Given the description of an element on the screen output the (x, y) to click on. 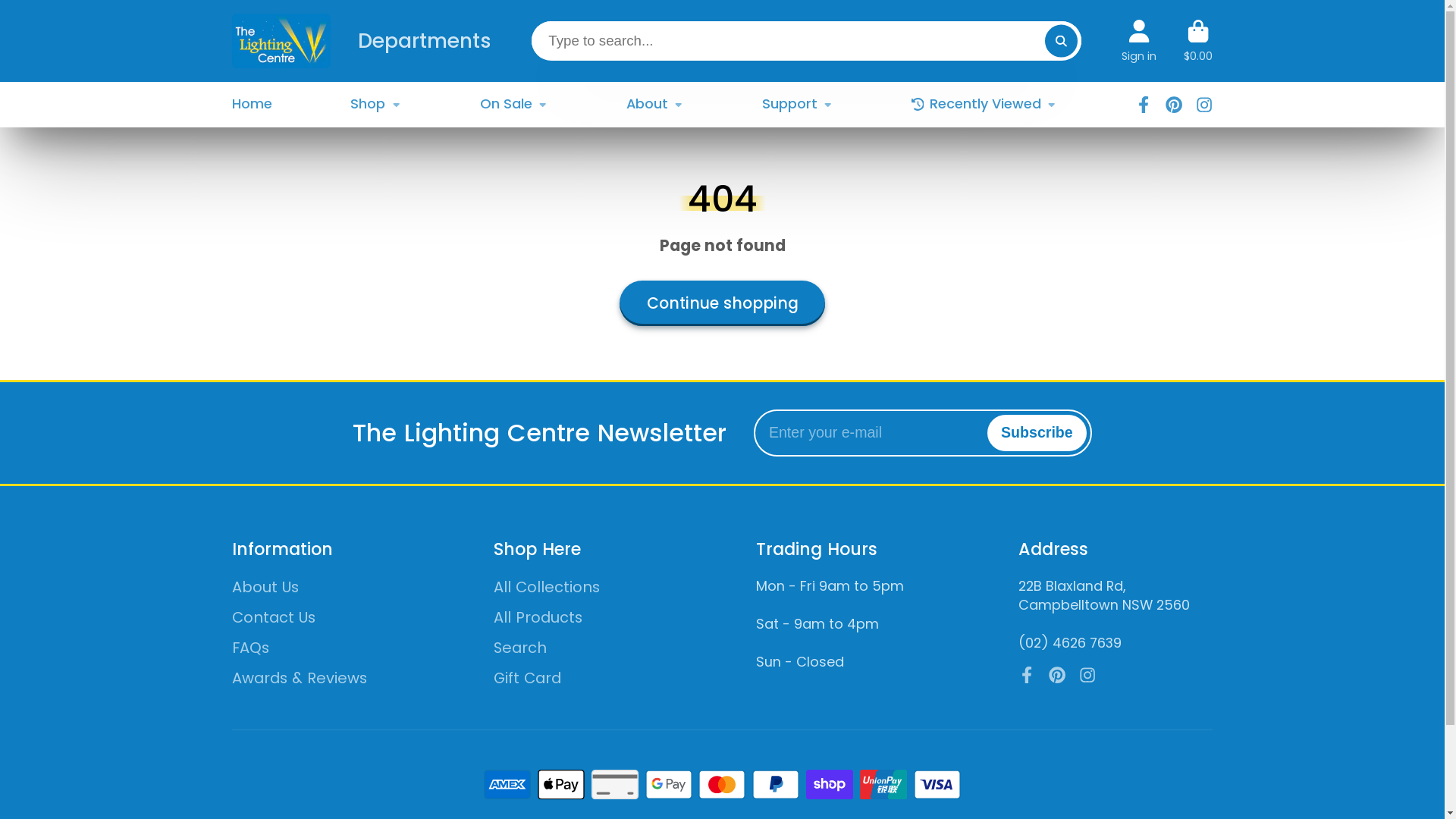
Shop Element type: text (375, 104)
On Sale Element type: text (512, 104)
FAQs Element type: text (329, 647)
Account Element type: text (1138, 40)
Cart Element type: text (1197, 40)
Instagram Element type: text (1087, 674)
Awards & Reviews Element type: text (329, 678)
Logo Element type: text (281, 40)
Contact Us Element type: text (329, 617)
About Us Element type: text (329, 587)
Search Element type: text (590, 647)
Home Element type: text (252, 104)
All Collections Element type: text (590, 587)
Facebook Element type: text (1143, 104)
Subscribe Element type: text (1036, 432)
Pinterest Element type: text (1173, 104)
All Products Element type: text (590, 617)
About Element type: text (654, 104)
Gift Card Element type: text (590, 678)
Instagram Element type: text (1203, 104)
Support Element type: text (797, 104)
Recently Viewed Element type: text (984, 104)
Pinterest Element type: text (1056, 674)
Continue shopping Element type: text (722, 302)
Facebook Element type: text (1026, 674)
